Given the description of an element on the screen output the (x, y) to click on. 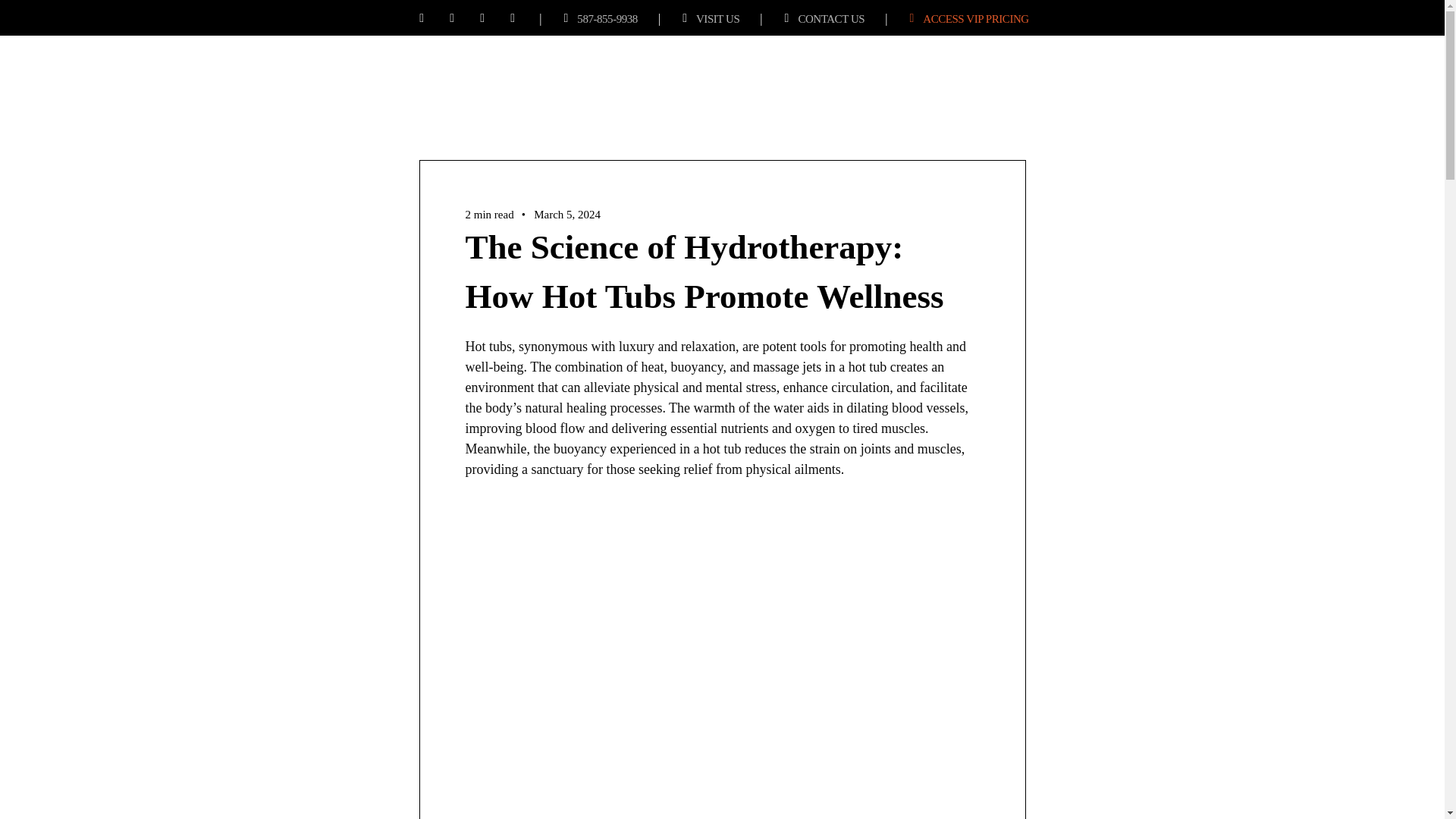
VISIT US (717, 18)
CONTACT US (830, 18)
587-855-9938 (606, 18)
ACCESS VIP PRICING (975, 18)
